Given the description of an element on the screen output the (x, y) to click on. 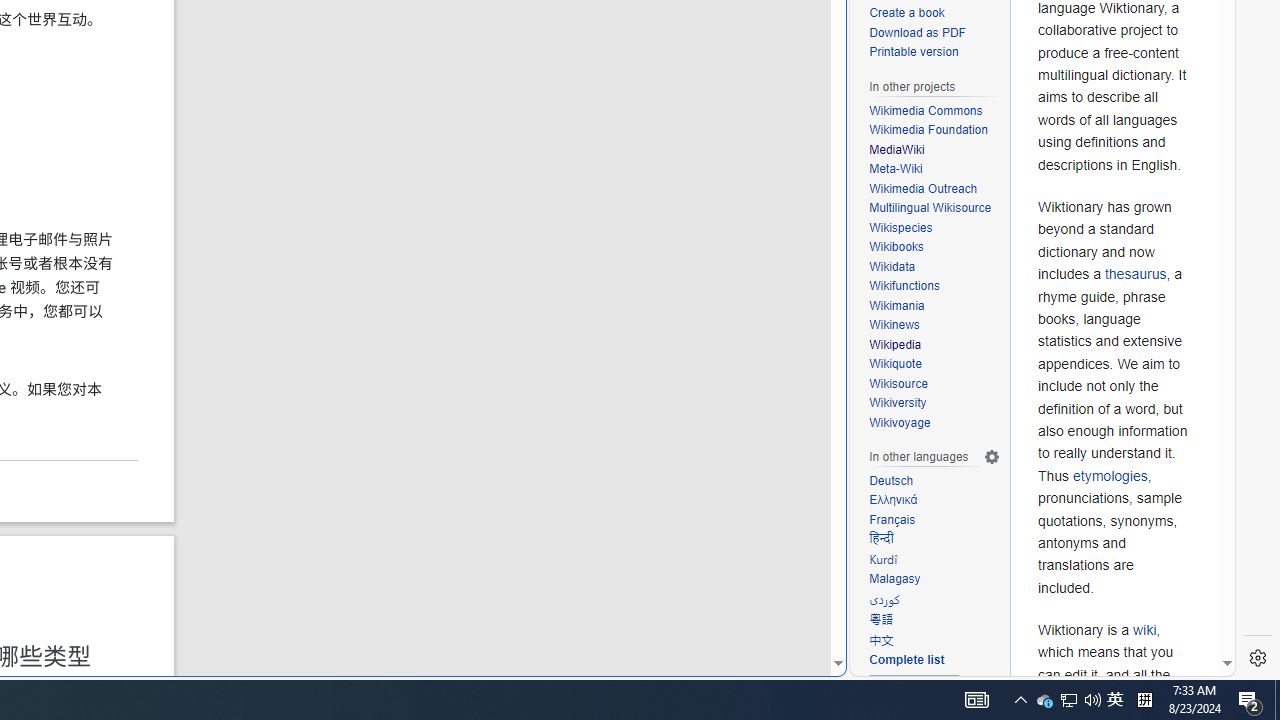
Meta-Wiki (934, 169)
google_privacy_policy_zh-CN.pdf (687, 482)
Wikiversity (897, 403)
Language settings (992, 457)
Complete list (906, 660)
163 more (915, 690)
Wikipedia (895, 344)
Wikifunctions (904, 286)
MediaWiki (897, 148)
